Given the description of an element on the screen output the (x, y) to click on. 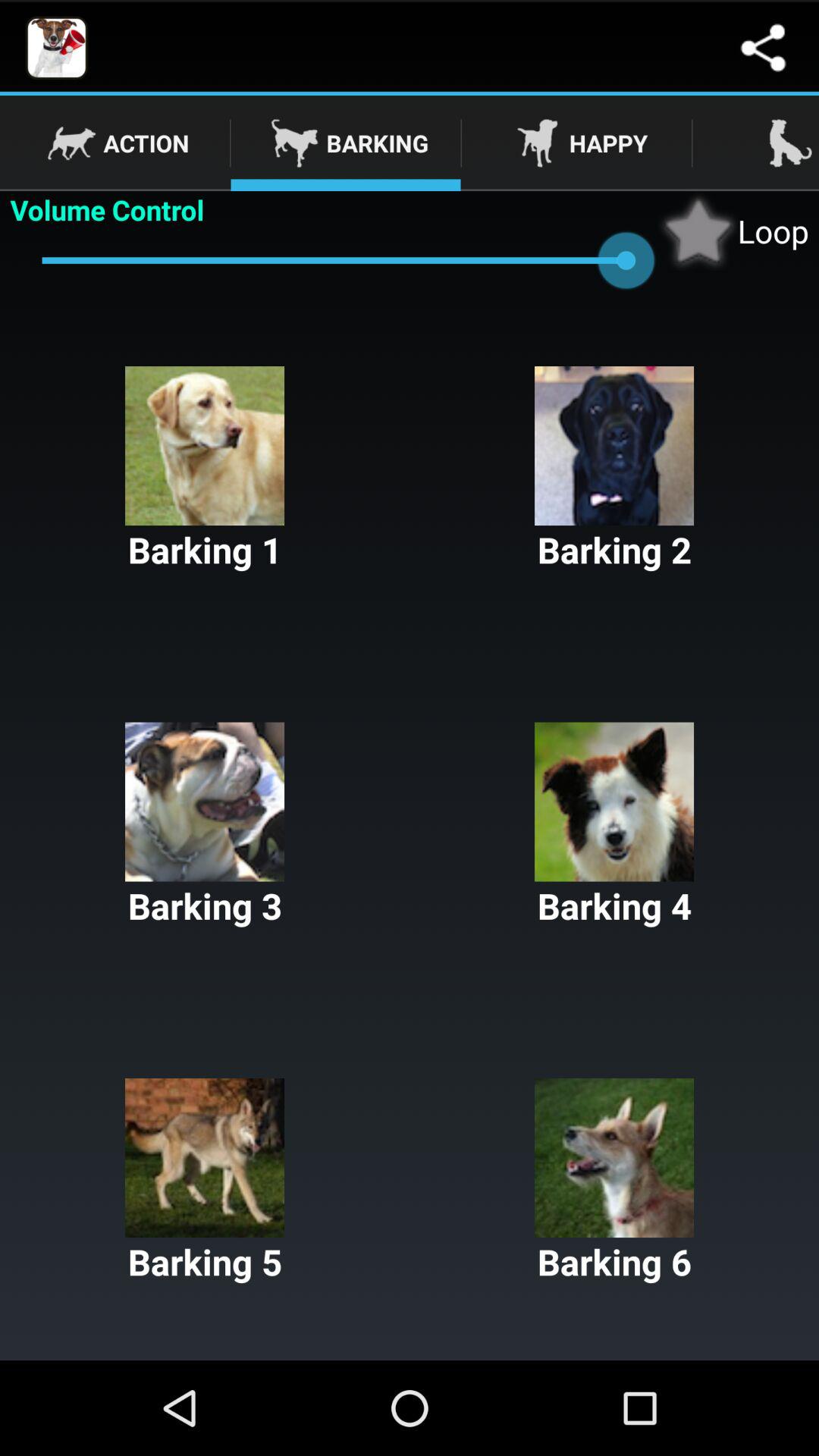
open the barking 1 button (204, 469)
